Given the description of an element on the screen output the (x, y) to click on. 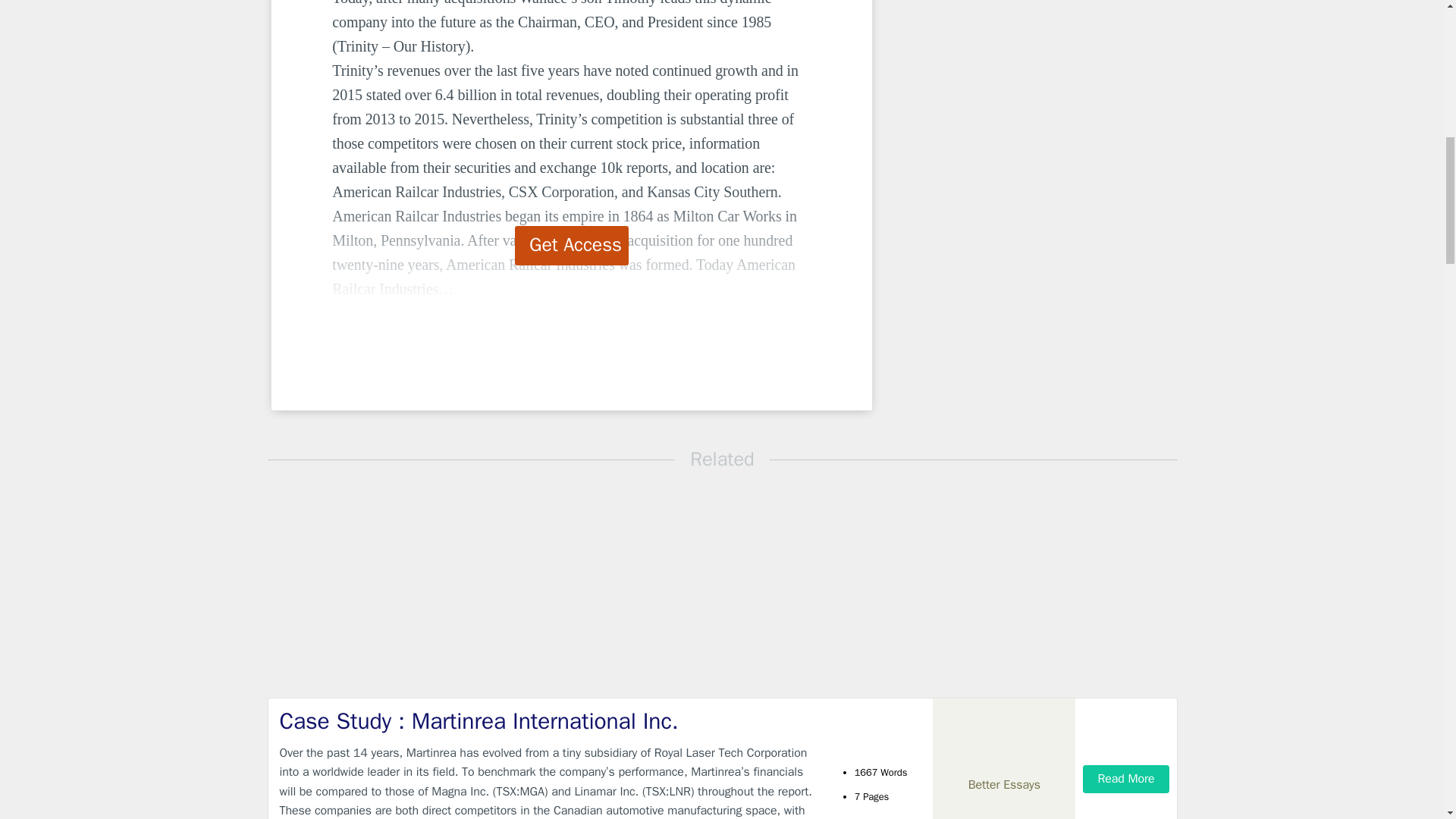
Get Access (571, 245)
Case Study : Martinrea International Inc. (548, 721)
Read More (1126, 778)
